Given the description of an element on the screen output the (x, y) to click on. 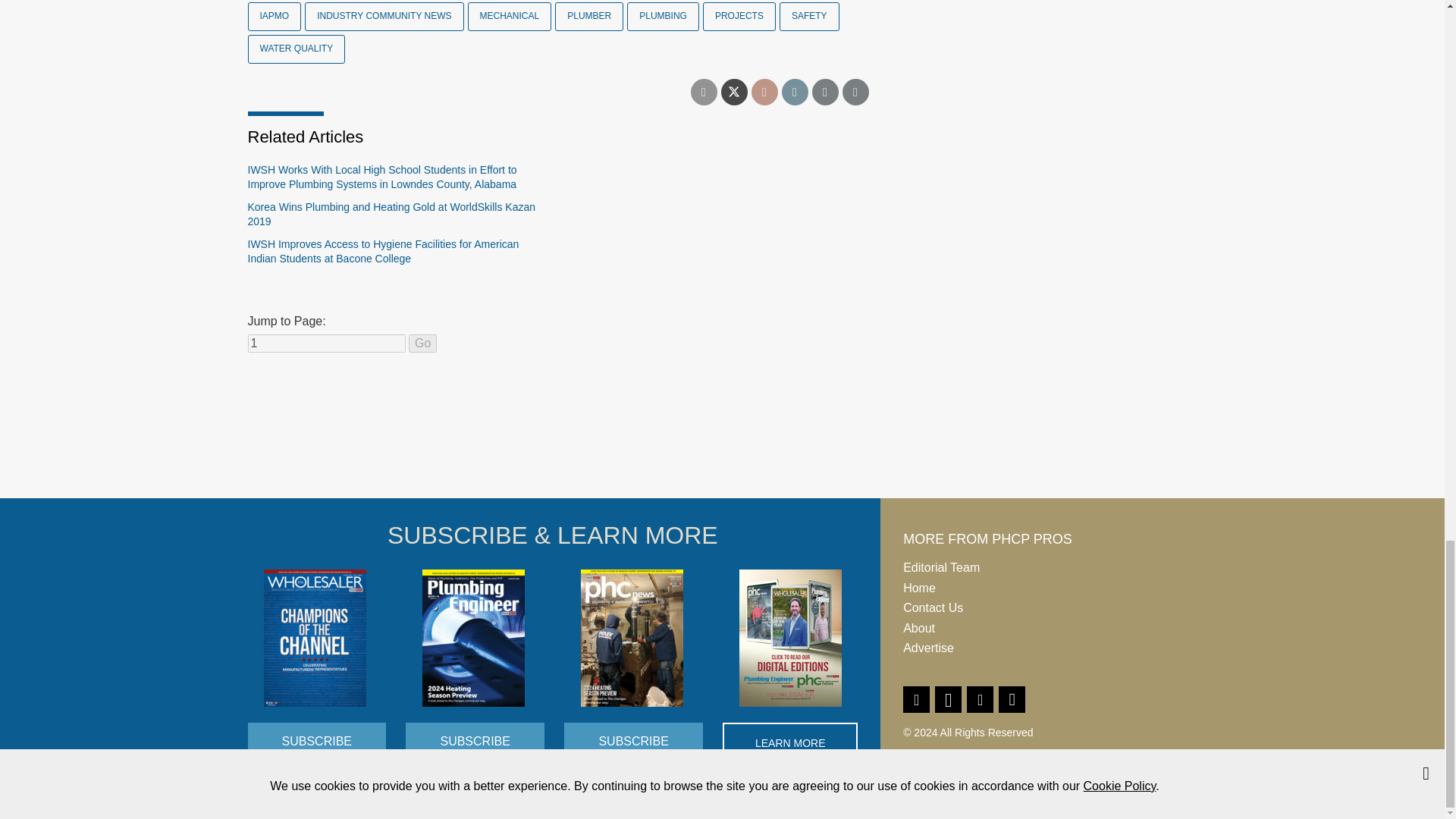
3rd party ad content (721, 441)
1 (325, 343)
Go (422, 343)
